Given the description of an element on the screen output the (x, y) to click on. 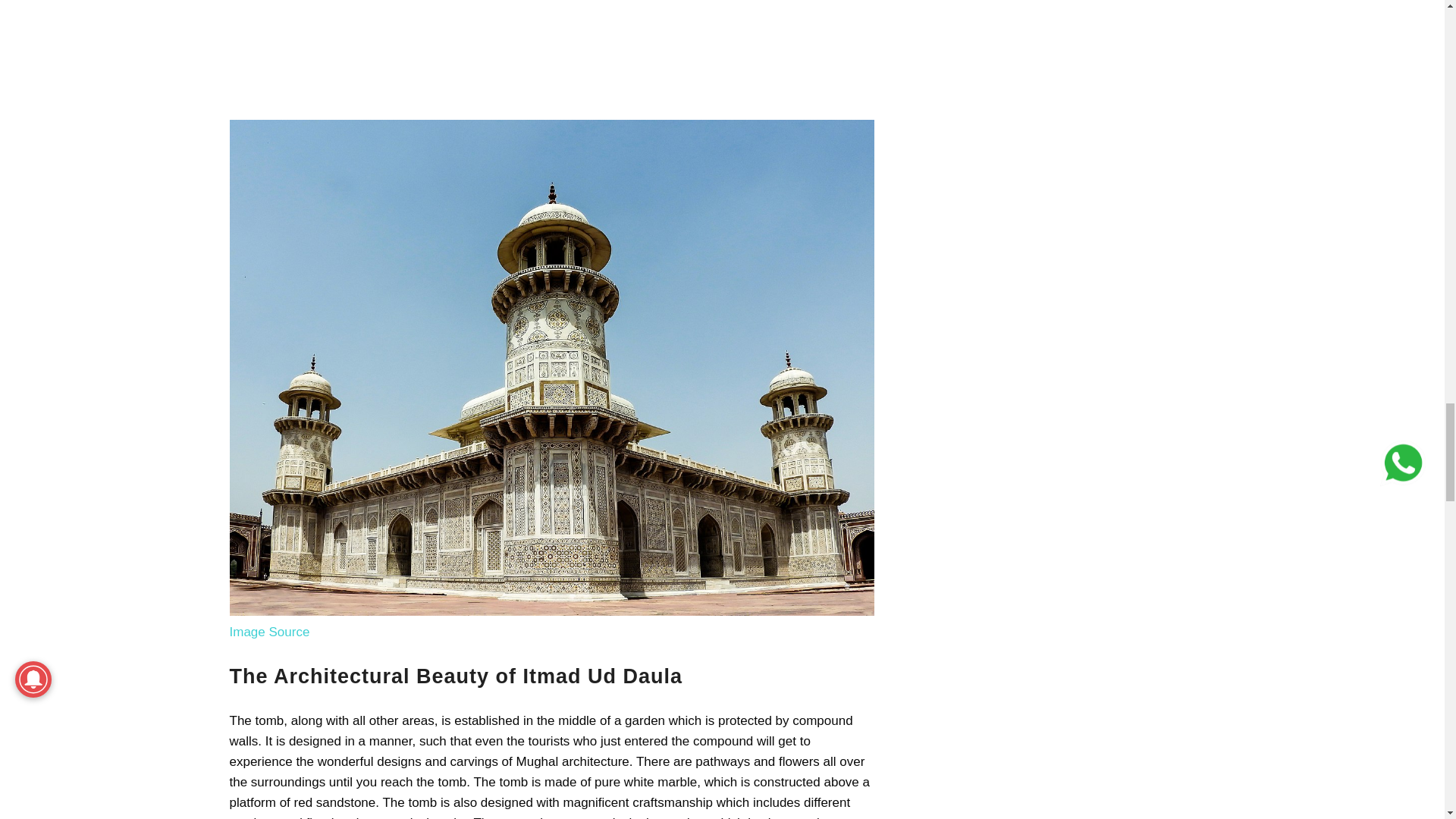
Advertisement (550, 56)
